Given the description of an element on the screen output the (x, y) to click on. 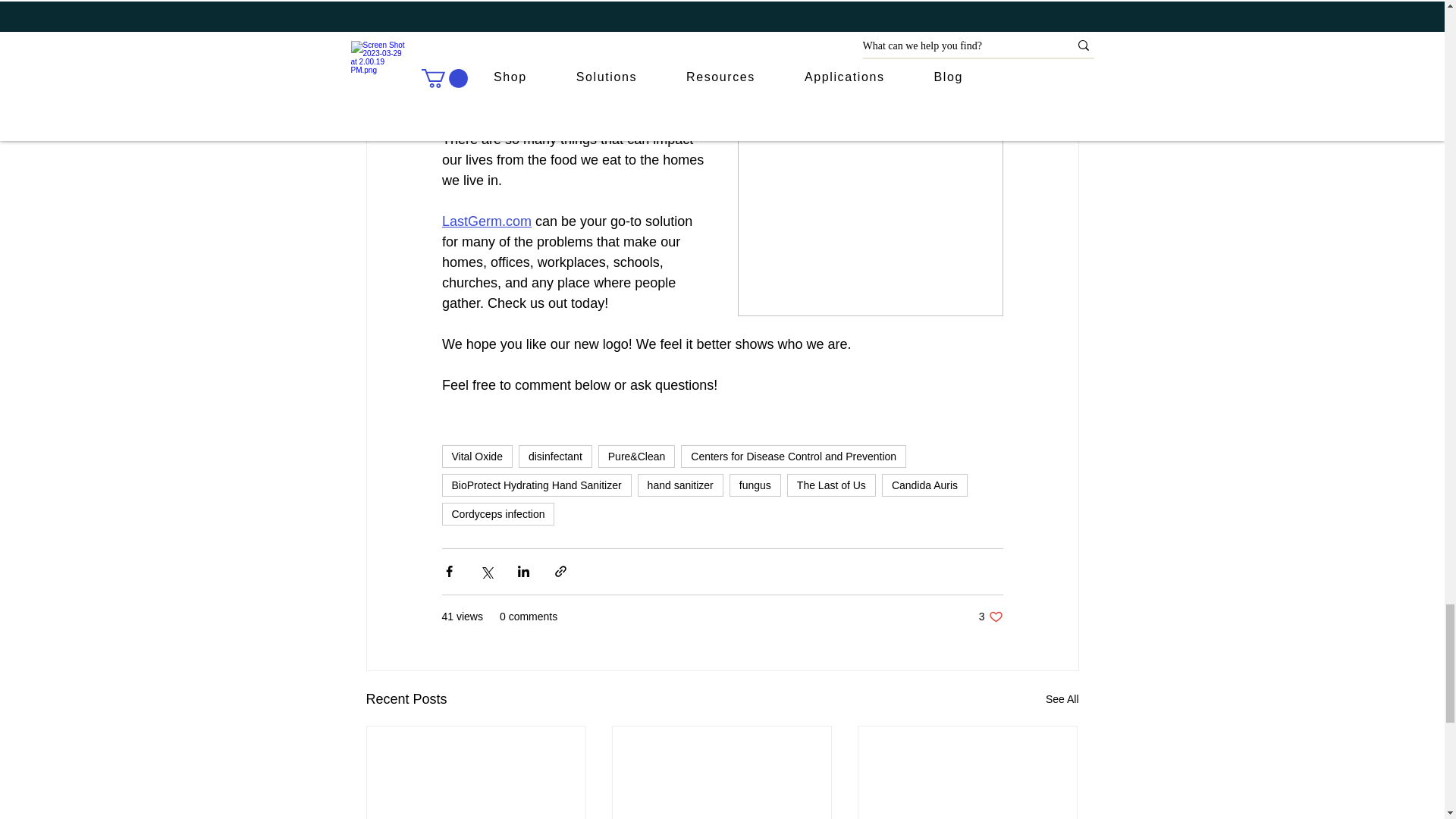
hand sanitizer (680, 485)
The Last of Us (831, 485)
Centers for Disease Control and Prevention (793, 456)
disinfectant (555, 456)
LastGerm.com (503, 98)
BioProtect Hydrating Hand Sanitizer (535, 485)
Cordyceps infection (497, 513)
Candida Auris (925, 485)
Vital Oxide (476, 456)
fungus (754, 485)
